Given the description of an element on the screen output the (x, y) to click on. 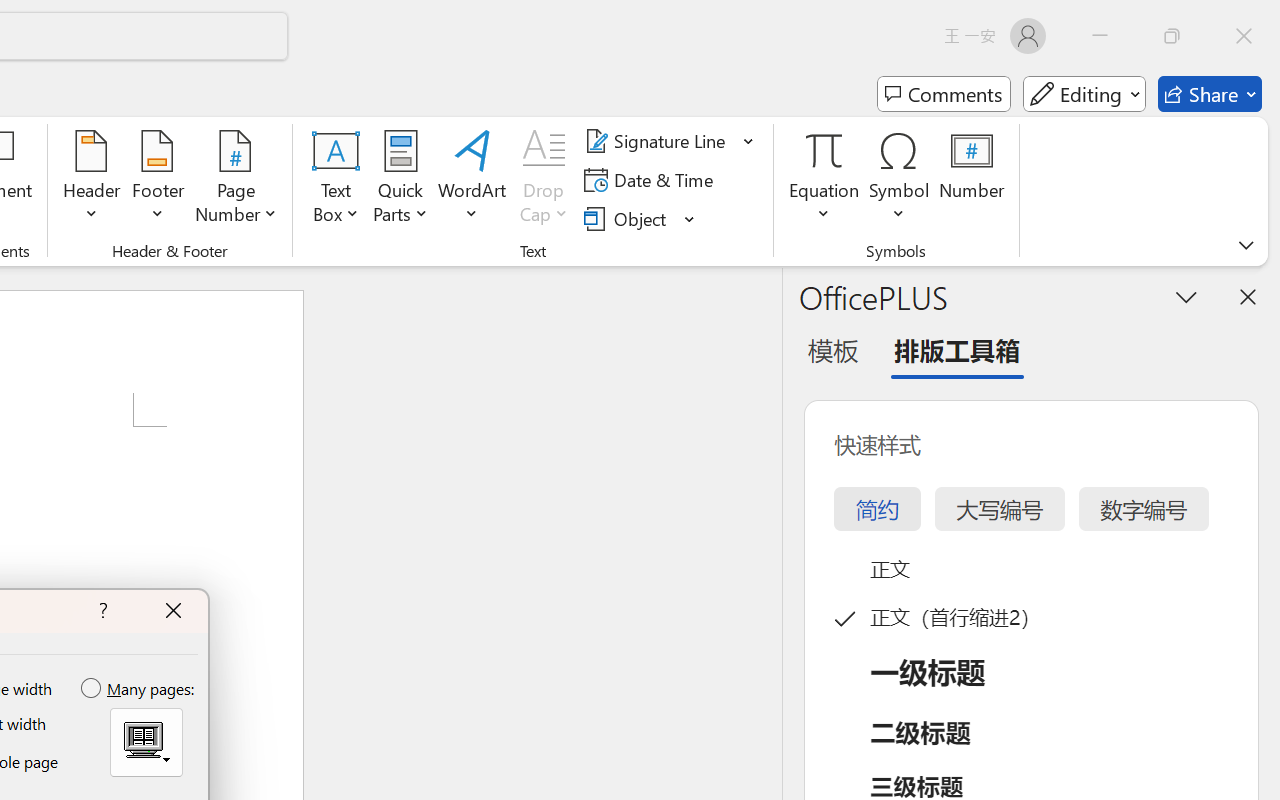
Text Box (335, 179)
Object... (640, 218)
Signature Line (669, 141)
Equation (823, 179)
Footer (157, 179)
Quick Parts (400, 179)
